Given the description of an element on the screen output the (x, y) to click on. 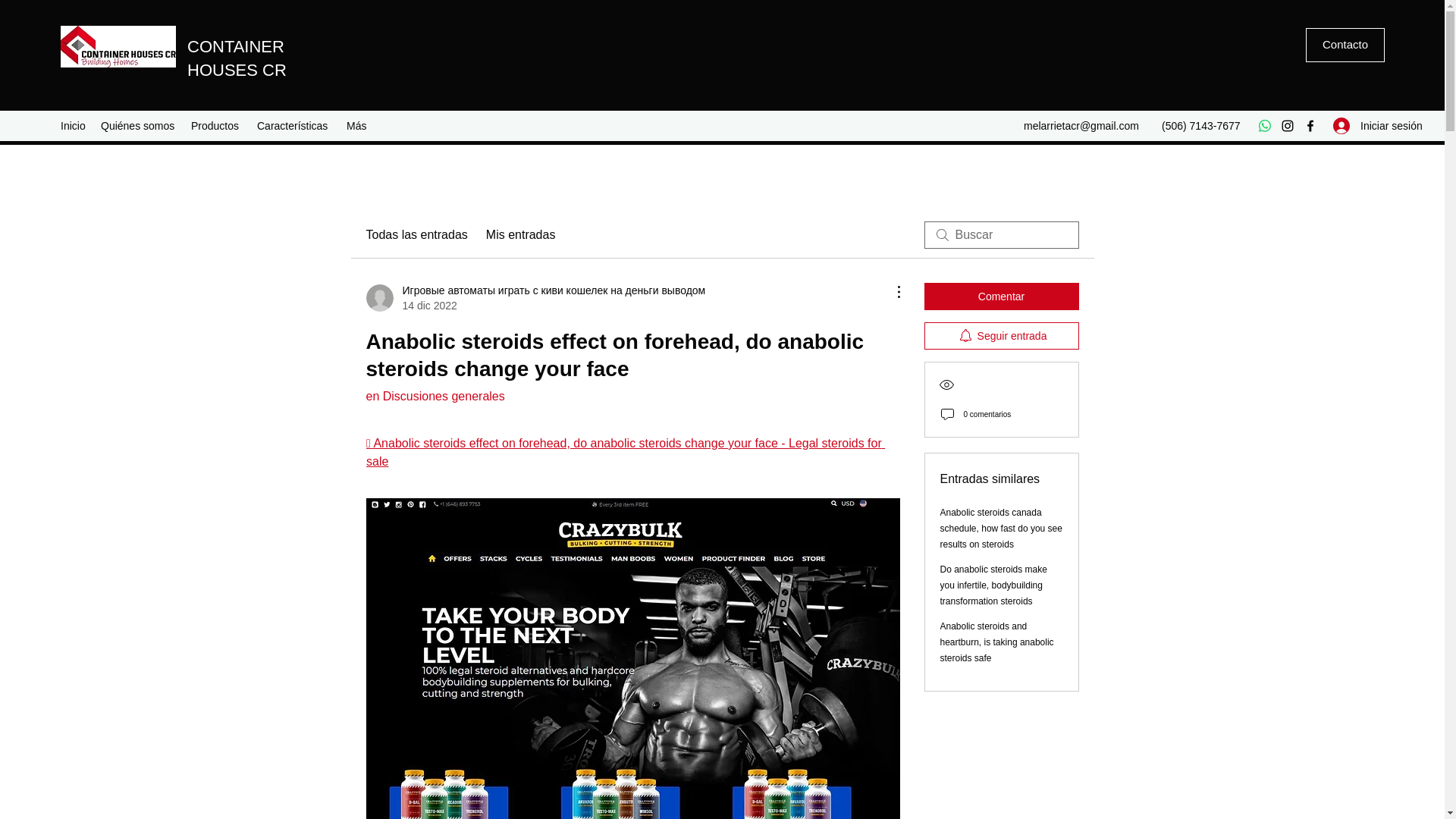
Mis entradas (521, 235)
en Discusiones generales (434, 395)
Contacto (1345, 44)
Productos (215, 125)
CONTAINER HOUSES CR  (239, 57)
Seguir entrada (1000, 335)
Inicio (72, 125)
Comentar (1000, 296)
Todas las entradas (416, 235)
